Given the description of an element on the screen output the (x, y) to click on. 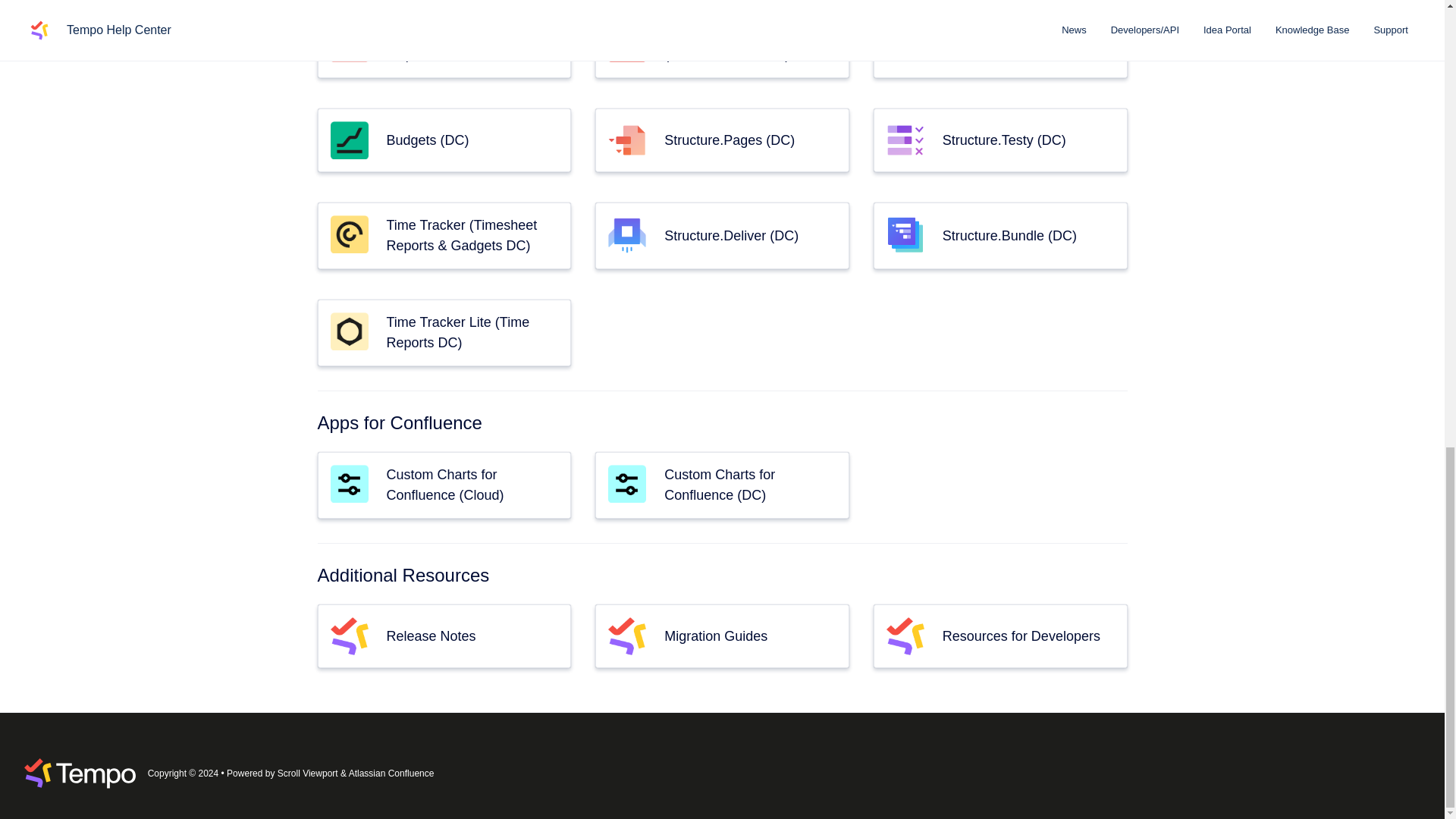
Release Notes (431, 635)
